Given the description of an element on the screen output the (x, y) to click on. 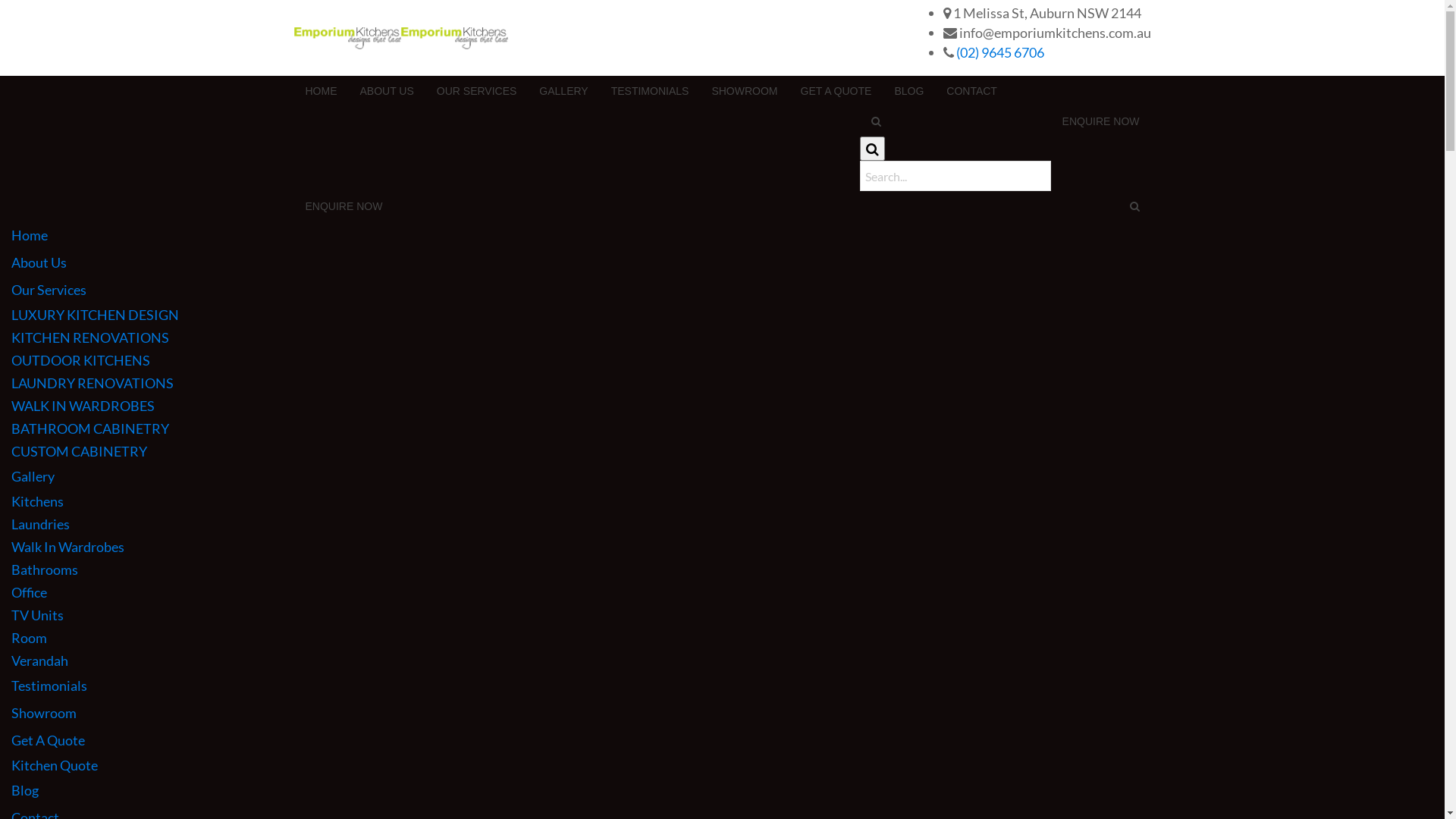
Our Services Element type: text (722, 289)
Verandah Element type: text (727, 660)
CONTACT Element type: text (971, 90)
Get A Quote Element type: text (722, 739)
Bathrooms Element type: text (727, 569)
Office Element type: text (727, 591)
About Us Element type: text (722, 262)
ENQUIRE NOW Element type: text (344, 206)
OUTDOOR KITCHENS Element type: text (727, 359)
SHOWROOM Element type: text (743, 90)
LAUNDRY RENOVATIONS Element type: text (727, 382)
ENQUIRE NOW Element type: text (1101, 121)
OUR SERVICES Element type: text (476, 90)
Gallery Element type: text (722, 475)
ABOUT US Element type: text (386, 90)
(02) 9645 6706 Element type: text (999, 51)
Kitchens Element type: text (727, 500)
WALK IN WARDROBES Element type: text (727, 405)
Home Element type: text (722, 234)
Walk In Wardrobes Element type: text (727, 546)
LUXURY KITCHEN DESIGN Element type: text (727, 314)
TV Units Element type: text (727, 614)
GET A QUOTE Element type: text (835, 90)
TESTIMONIALS Element type: text (649, 90)
Kitchen Quote Element type: text (727, 764)
Testimonials Element type: text (722, 685)
CUSTOM CABINETRY Element type: text (727, 450)
Laundries Element type: text (727, 523)
KITCHEN RENOVATIONS Element type: text (727, 337)
BATHROOM CABINETRY Element type: text (727, 428)
Room Element type: text (727, 637)
GALLERY Element type: text (563, 90)
Blog Element type: text (722, 789)
BLOG Element type: text (908, 90)
HOME Element type: text (321, 90)
Showroom Element type: text (722, 712)
